Given the description of an element on the screen output the (x, y) to click on. 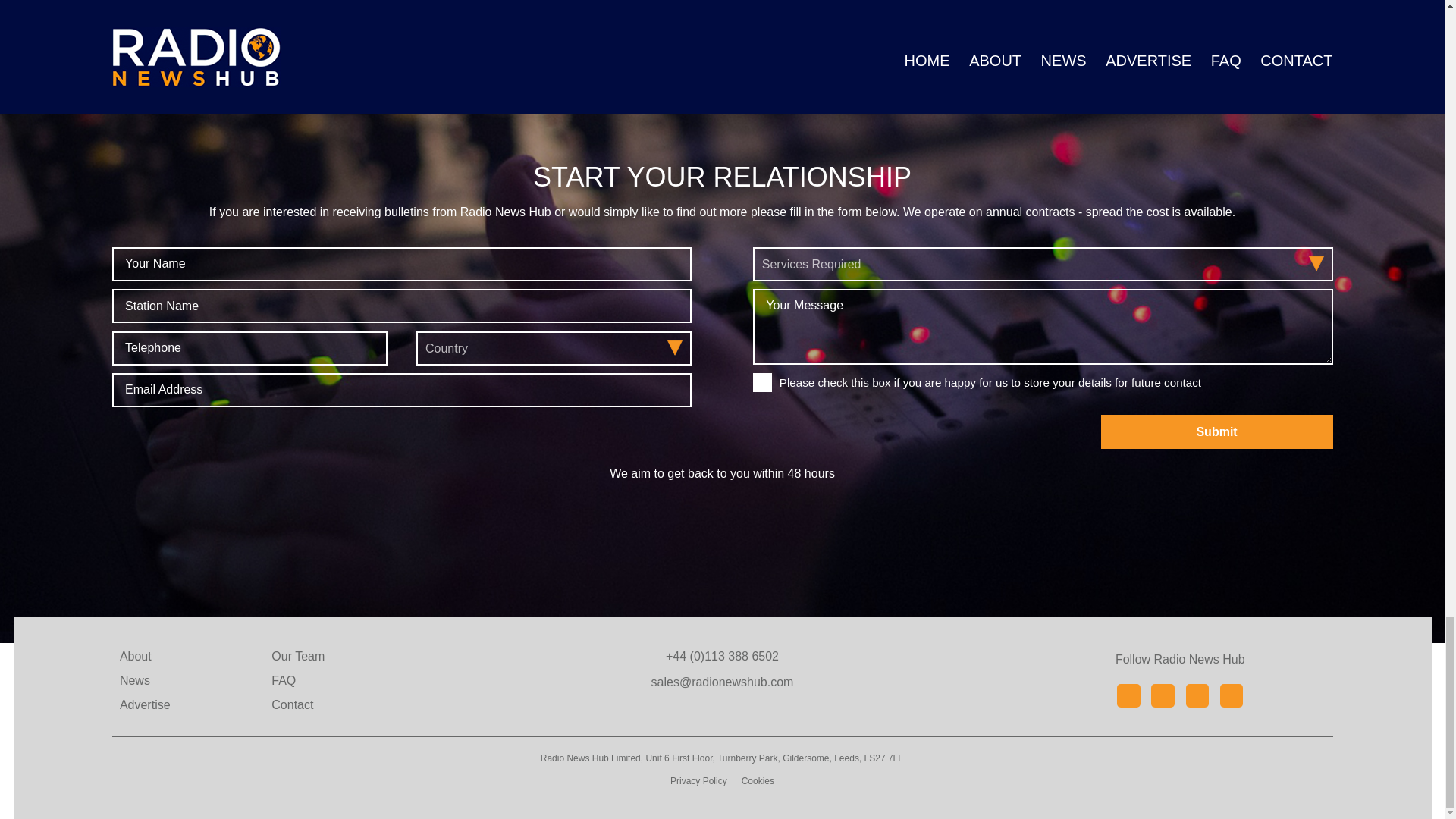
Advertise (144, 705)
About (135, 656)
FAQ (282, 680)
submit (1216, 431)
Our Team (297, 656)
Cookies (757, 780)
Follow Us On Twitter (1197, 694)
News (134, 680)
Find Us On Facebook (1128, 694)
Privacy Policy (697, 780)
